Given the description of an element on the screen output the (x, y) to click on. 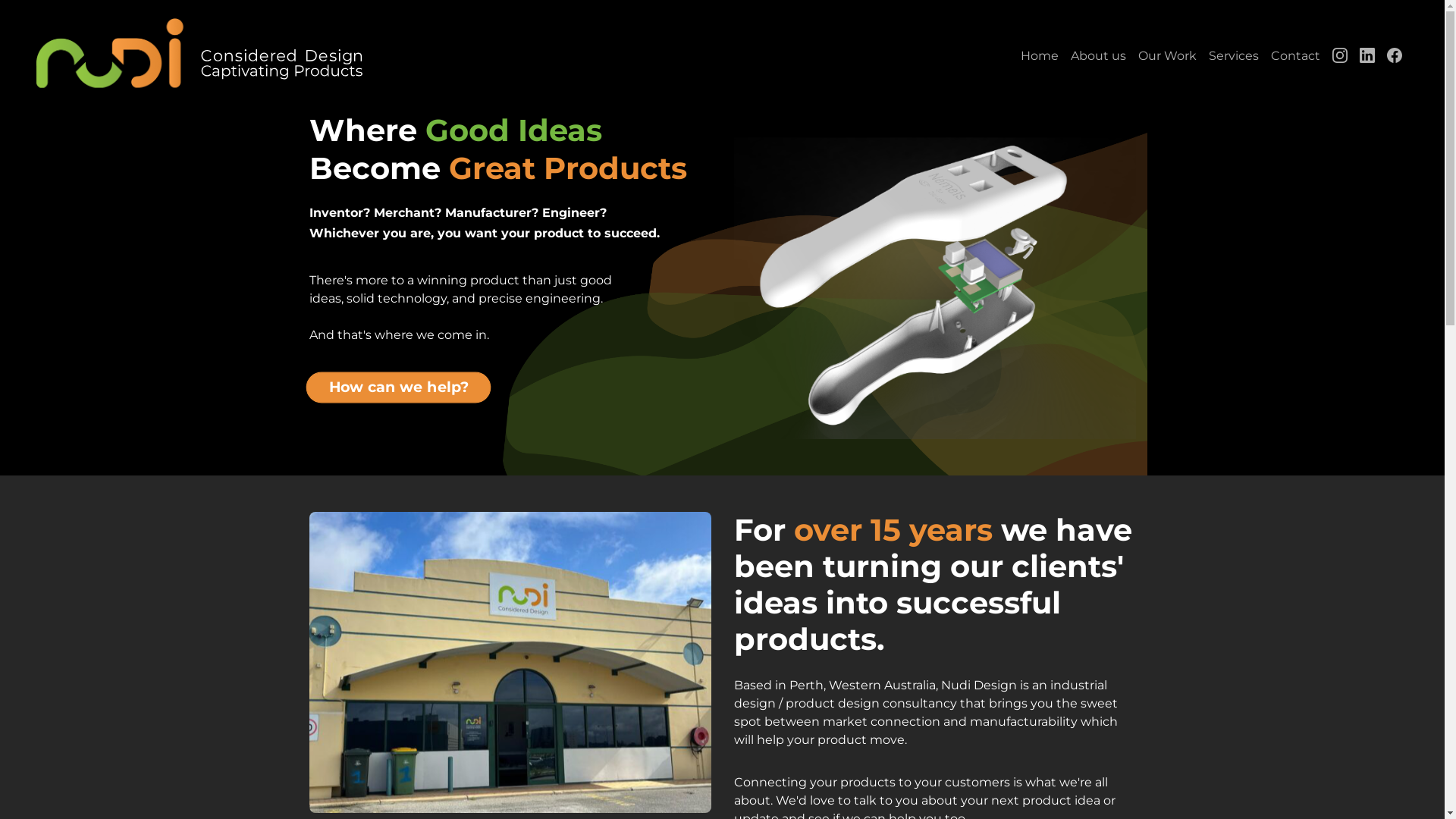
About us Element type: text (1098, 55)
Home Element type: text (1039, 55)
How can we help? Element type: text (382, 384)
Services Element type: text (1233, 55)
Contact Element type: text (1295, 55)
Our Work Element type: text (1167, 55)
